Given the description of an element on the screen output the (x, y) to click on. 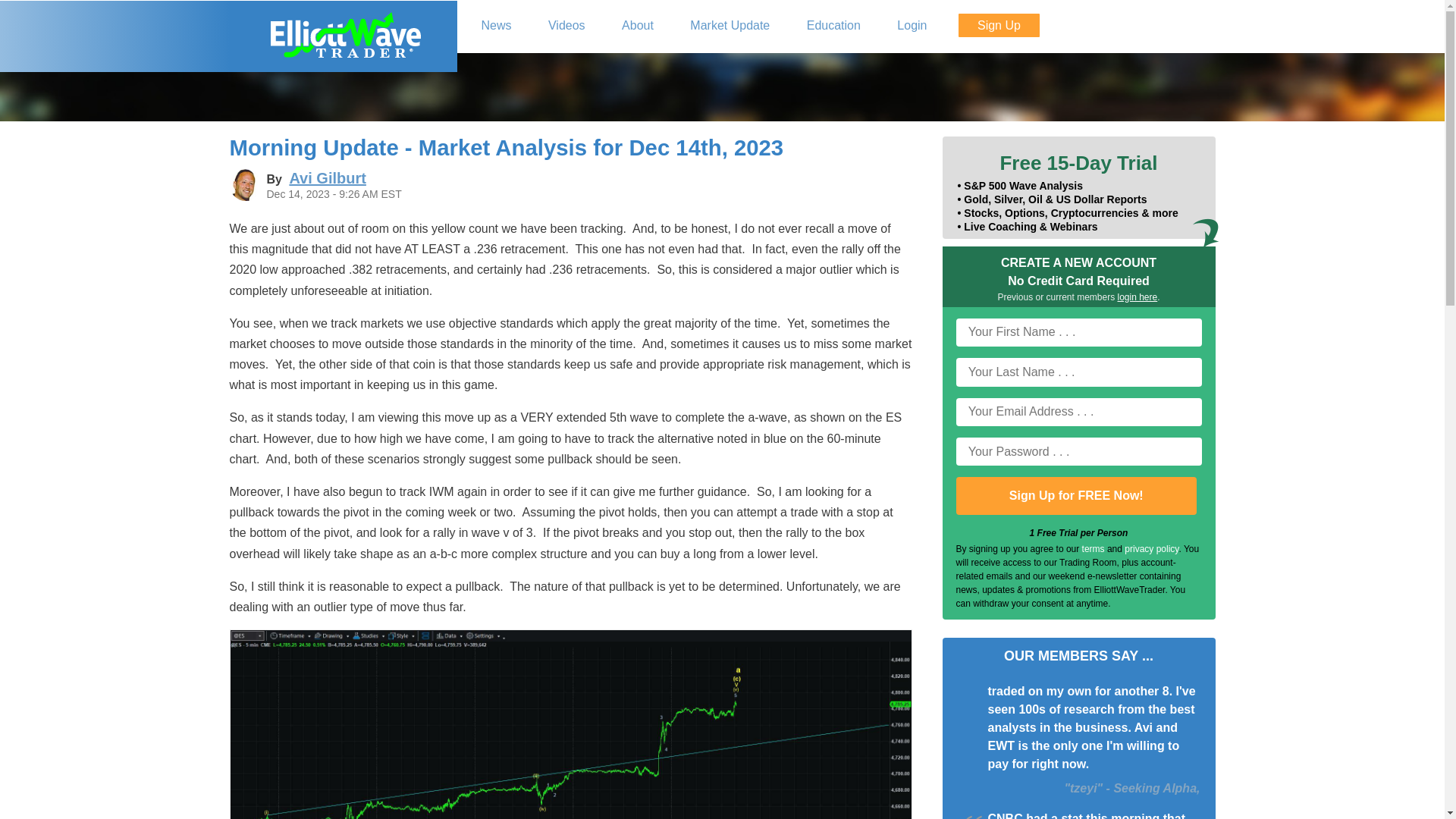
terms (1093, 548)
Market Update (729, 25)
Sign Up for FREE Now! (1075, 495)
Videos (567, 25)
Login (911, 25)
Sign Up to become a Member! (998, 24)
Sign Up (998, 24)
login here (1137, 296)
Your Password (1078, 451)
Education (834, 25)
Market Update (729, 25)
Your Email Address (1078, 411)
Videos (567, 25)
Your Last Name (1078, 371)
Members Login (911, 25)
